Given the description of an element on the screen output the (x, y) to click on. 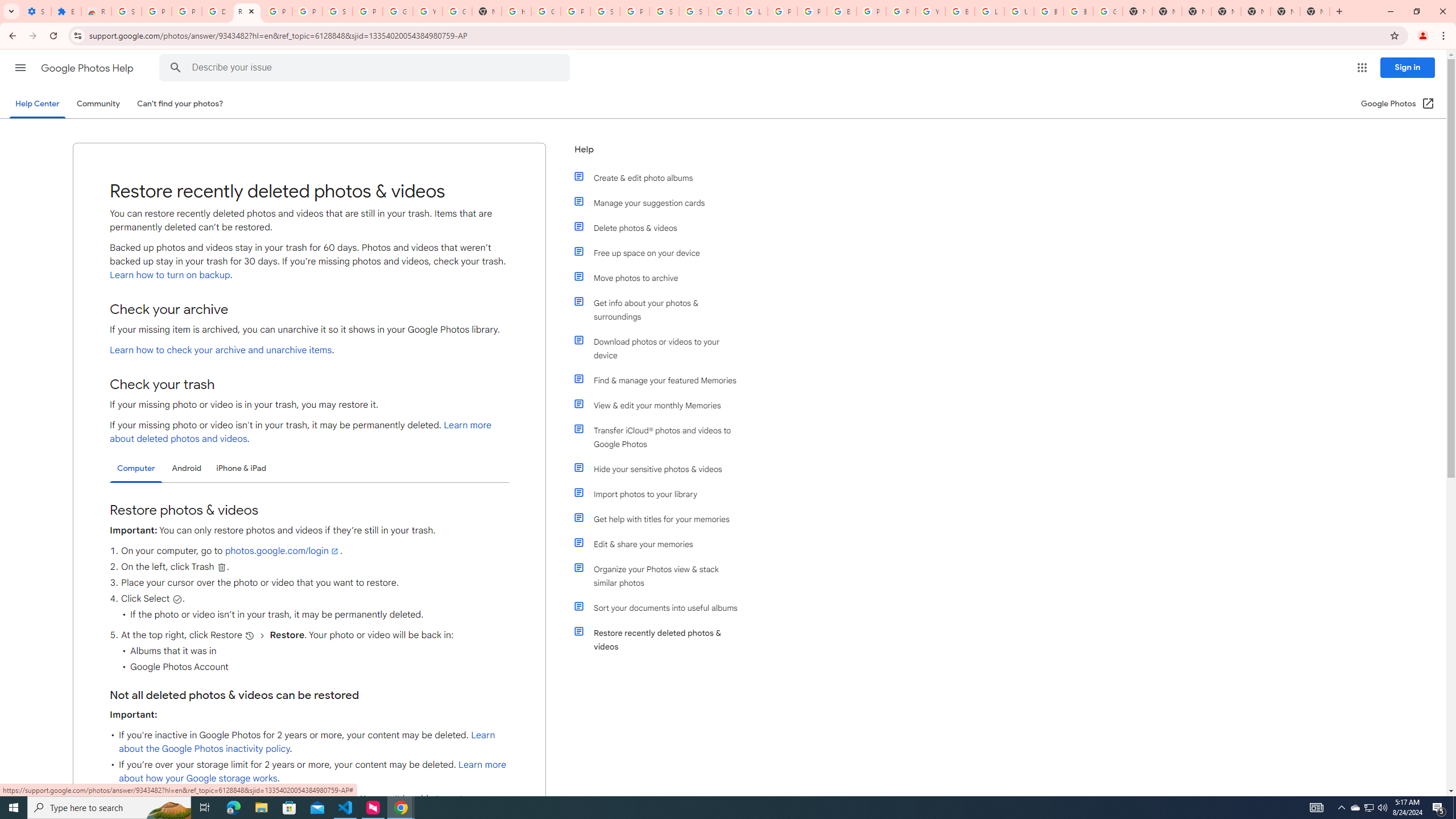
Find & manage your featured Memories (661, 380)
Address and search bar (735, 35)
You (1422, 35)
Minimize (1390, 11)
Sign in - Google Accounts (604, 11)
Delete (221, 566)
Sign in - Google Accounts (126, 11)
View site information (77, 35)
Reload (52, 35)
System (6, 6)
Describe your issue (366, 67)
Bookmark this tab (1393, 35)
